Given the description of an element on the screen output the (x, y) to click on. 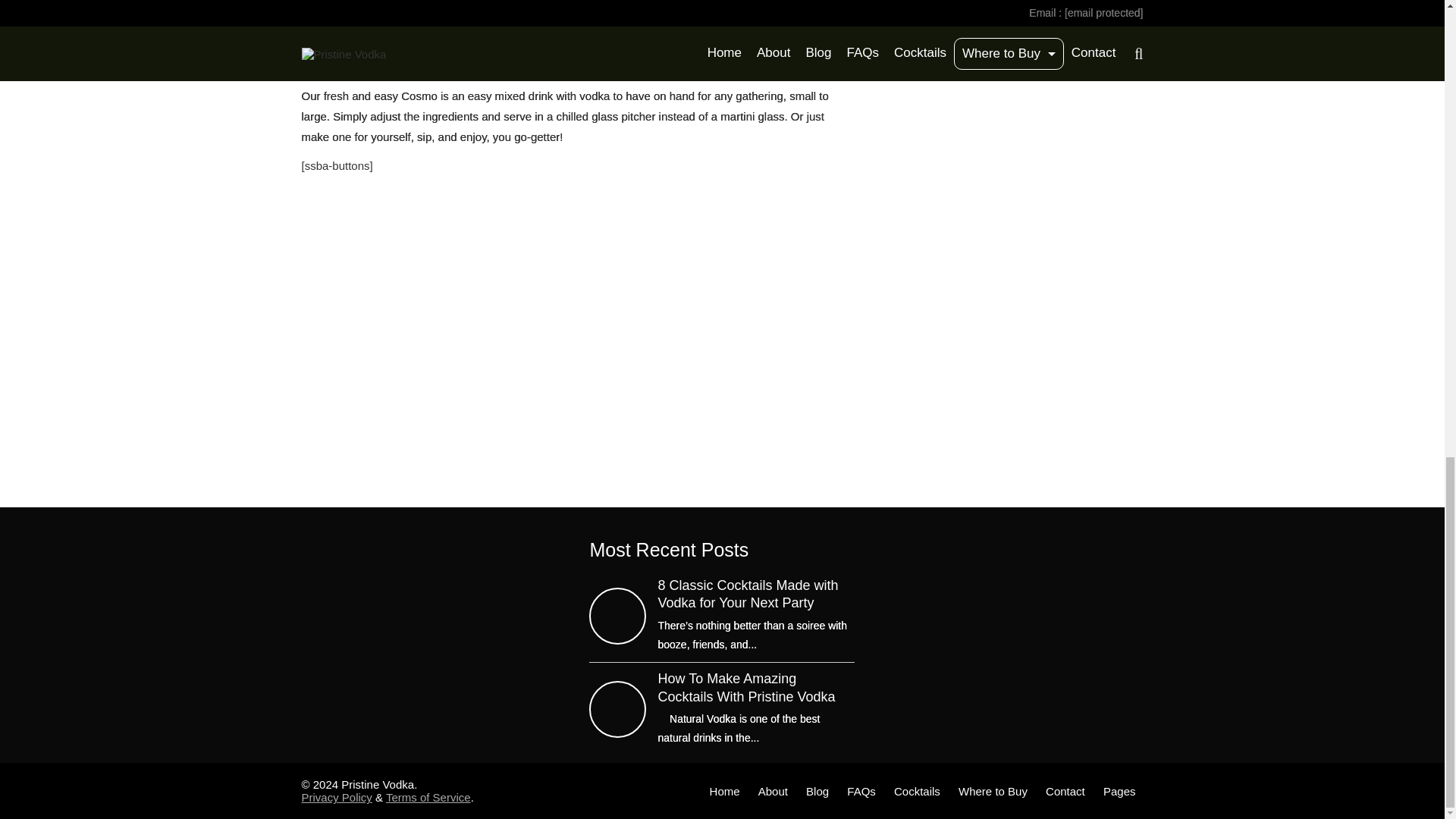
Home (724, 790)
Privacy Policy (336, 797)
Where to Buy (992, 790)
8 Classic Cocktails Made with Vodka for Your Next Party (756, 594)
About (772, 790)
FAQs (861, 790)
Cocktails (916, 790)
Blog (817, 790)
How To Make Amazing Cocktails With Pristine Vodka (756, 687)
Terms of Service (427, 797)
